Given the description of an element on the screen output the (x, y) to click on. 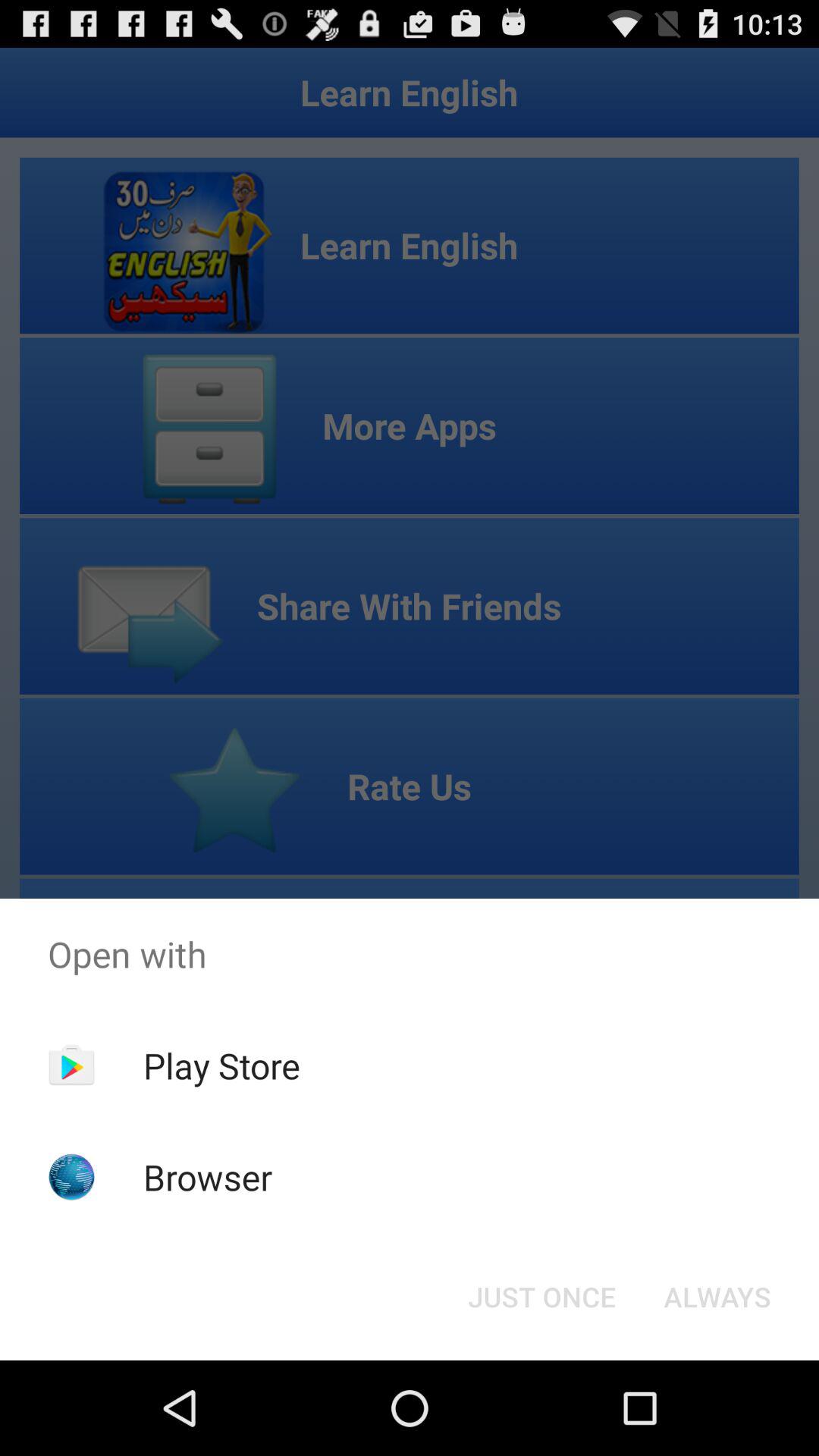
flip until just once icon (541, 1296)
